Given the description of an element on the screen output the (x, y) to click on. 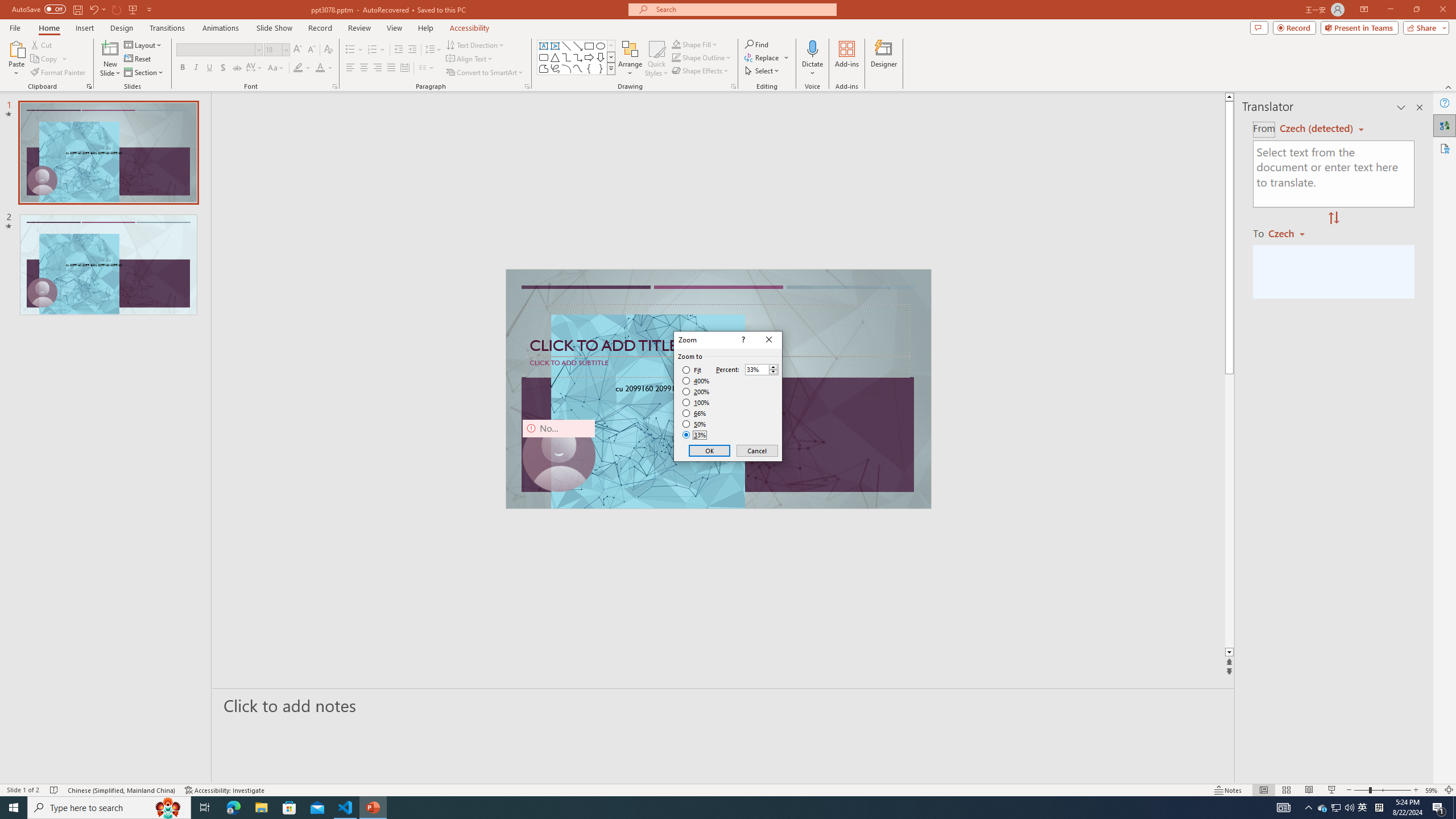
Shape Outline (701, 56)
Format Painter (58, 72)
Text Direction (476, 44)
Line Spacing (433, 49)
Arrange (630, 58)
